Given the description of an element on the screen output the (x, y) to click on. 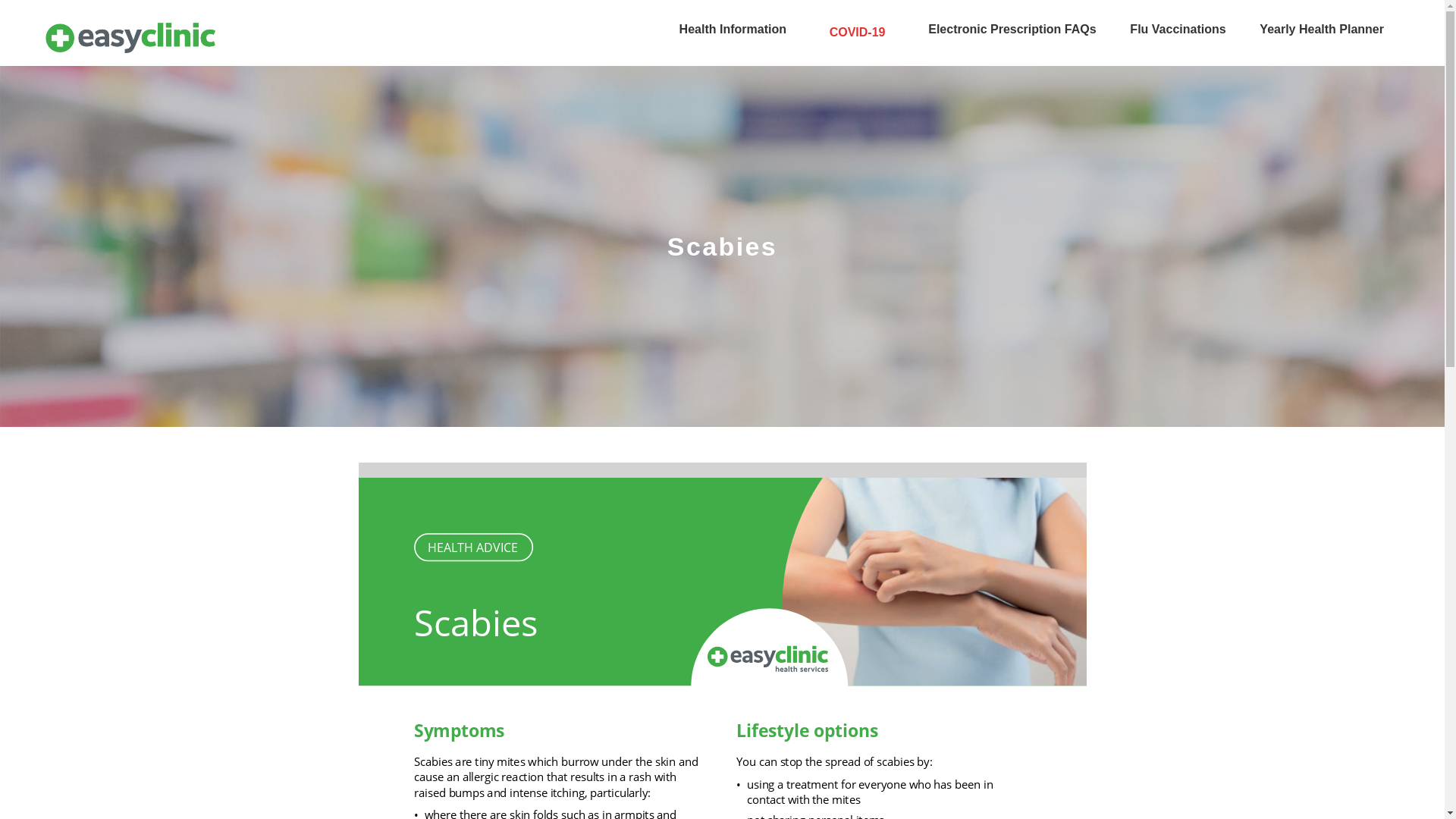
Electronic Prescription FAQs Element type: text (1011, 29)
Health Information Element type: text (732, 29)
Flu Vaccinations Element type: text (1177, 29)
Yearly Health Planner Element type: text (1321, 29)
COVID-19 Element type: text (857, 32)
